Given the description of an element on the screen output the (x, y) to click on. 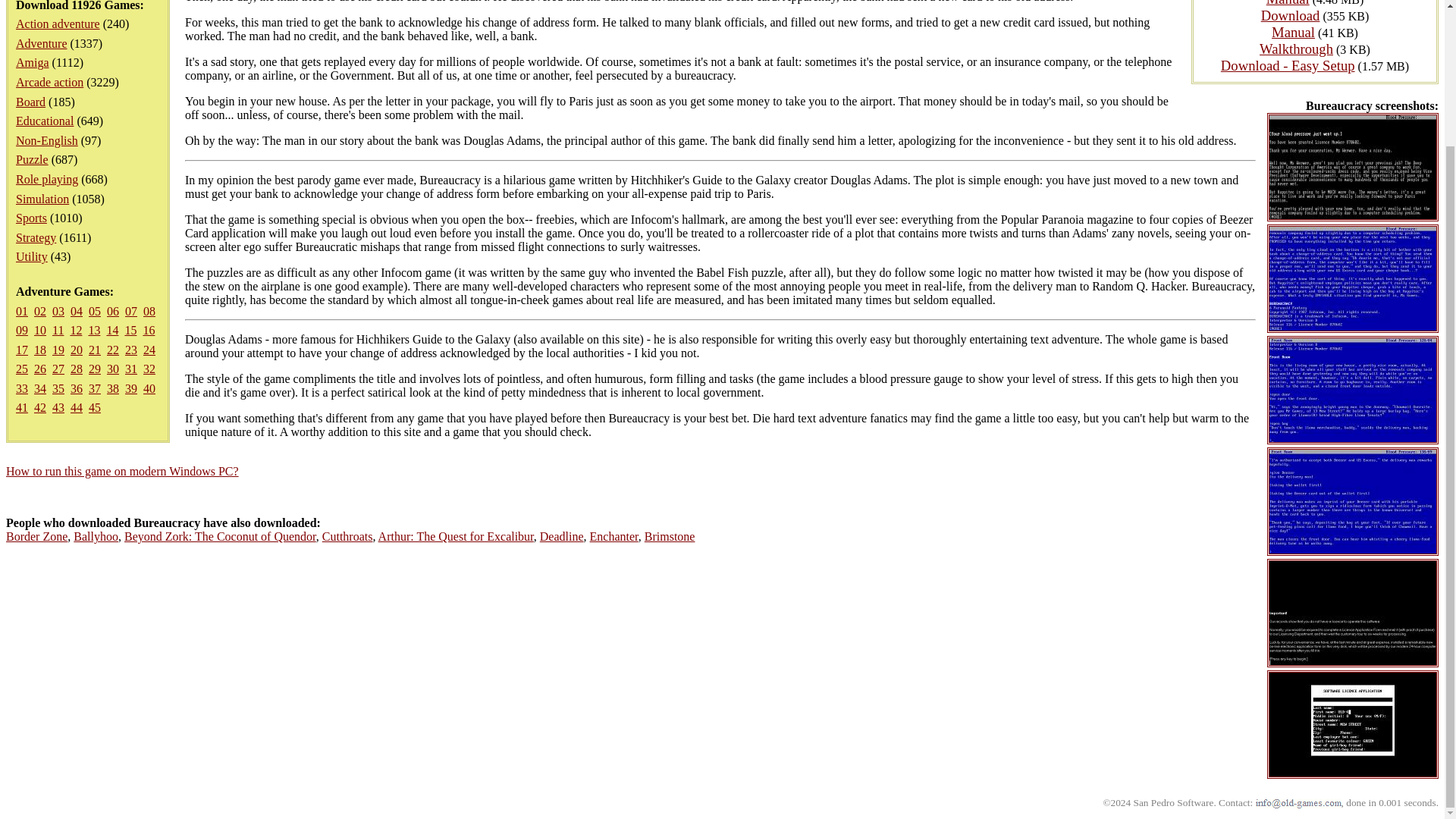
Puzzle (32, 159)
Educational (45, 120)
05 (94, 310)
Utility (32, 256)
12 (75, 329)
14 (111, 329)
16 (148, 329)
22 (112, 349)
Arcade action (49, 82)
07 (130, 310)
10 (39, 329)
Non-English (47, 140)
Amiga (32, 62)
15 (129, 329)
06 (112, 310)
